Given the description of an element on the screen output the (x, y) to click on. 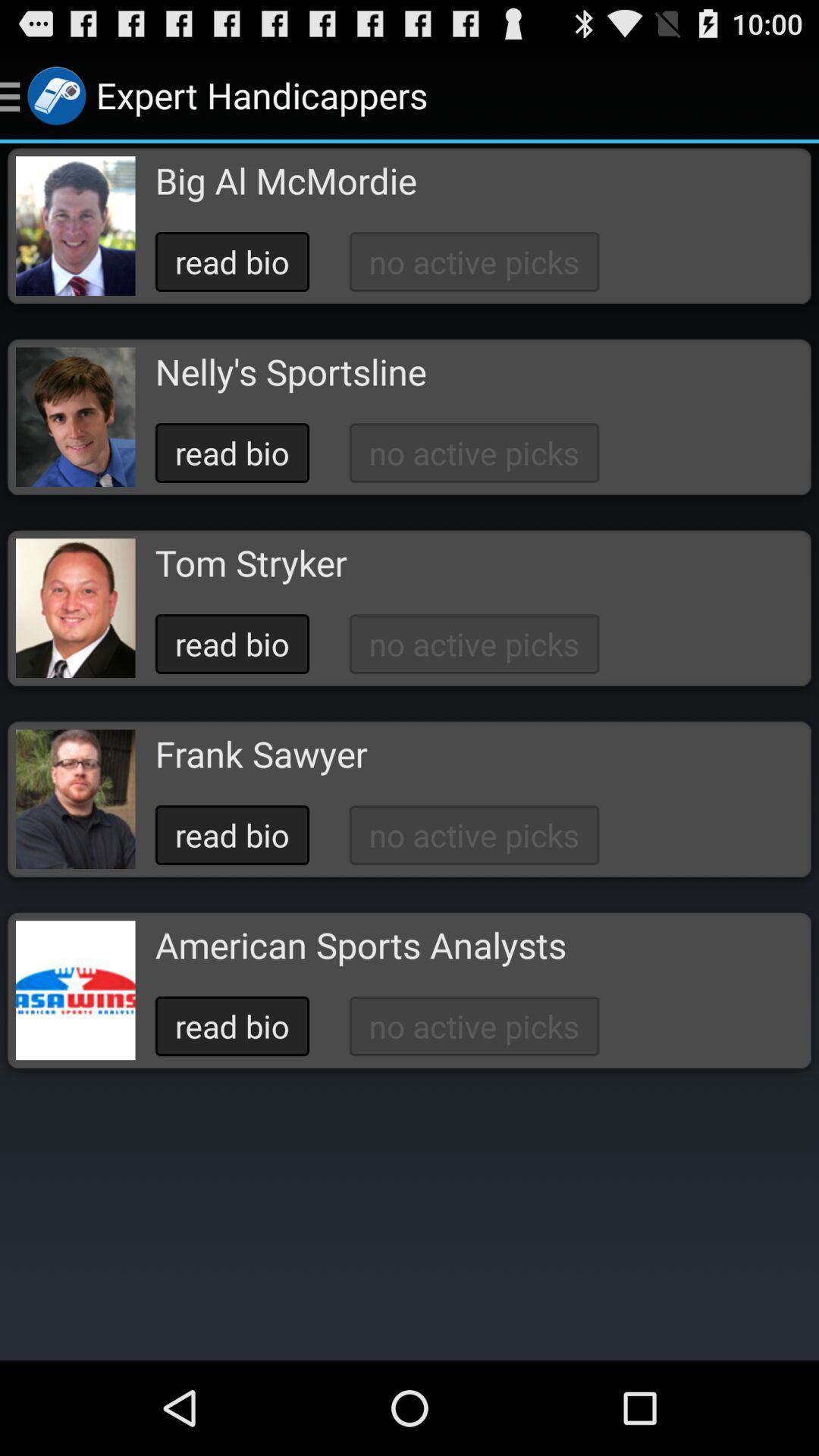
jump until big al mcmordie item (285, 180)
